Given the description of an element on the screen output the (x, y) to click on. 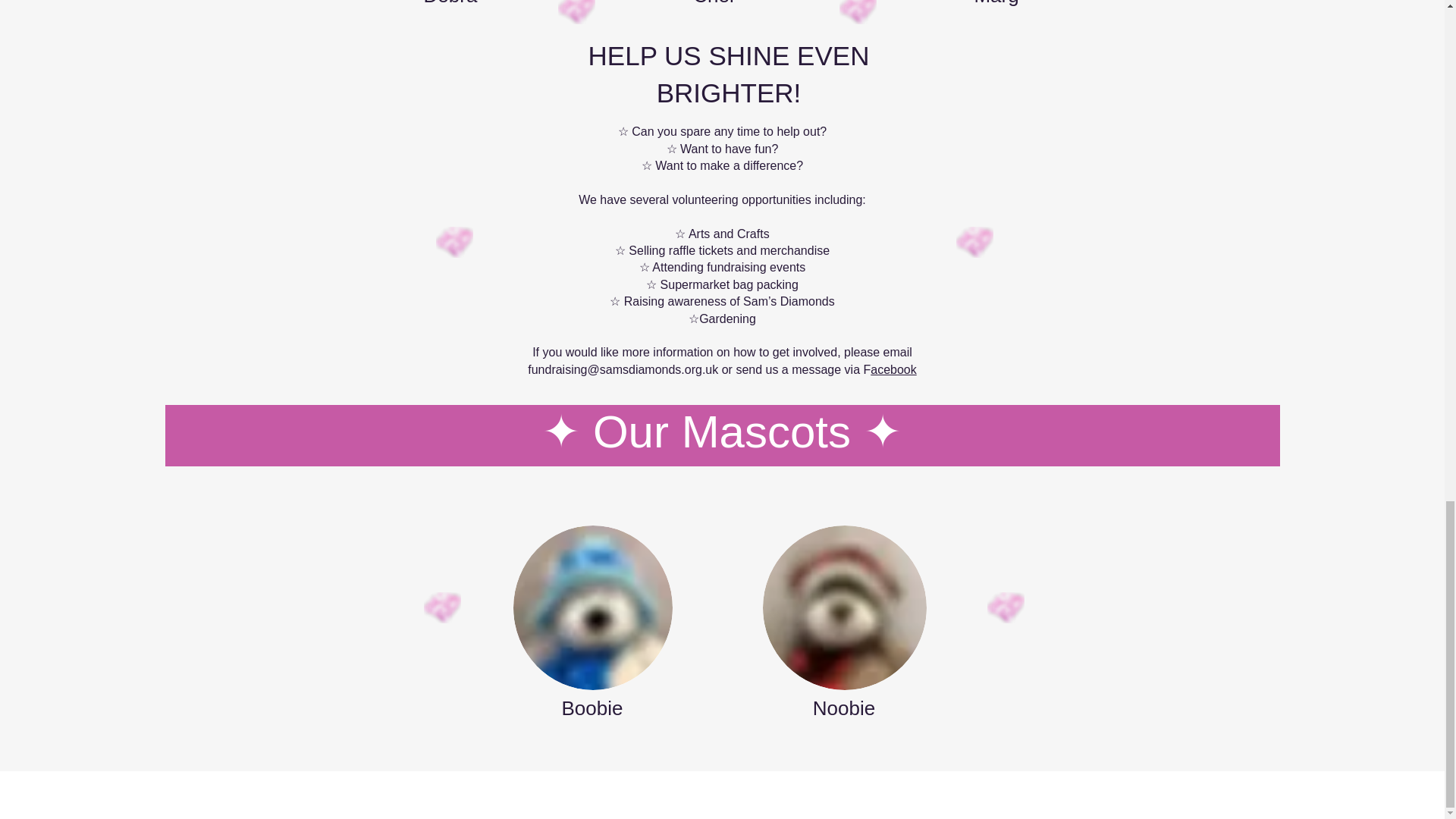
Diamond.png (973, 241)
Diamond.png (576, 12)
Diamond.png (441, 607)
Diamond.png (857, 12)
guy3.jpg (591, 607)
Diamond.png (1006, 607)
guy4.jpg (844, 607)
Diamond.png (453, 241)
